Given the description of an element on the screen output the (x, y) to click on. 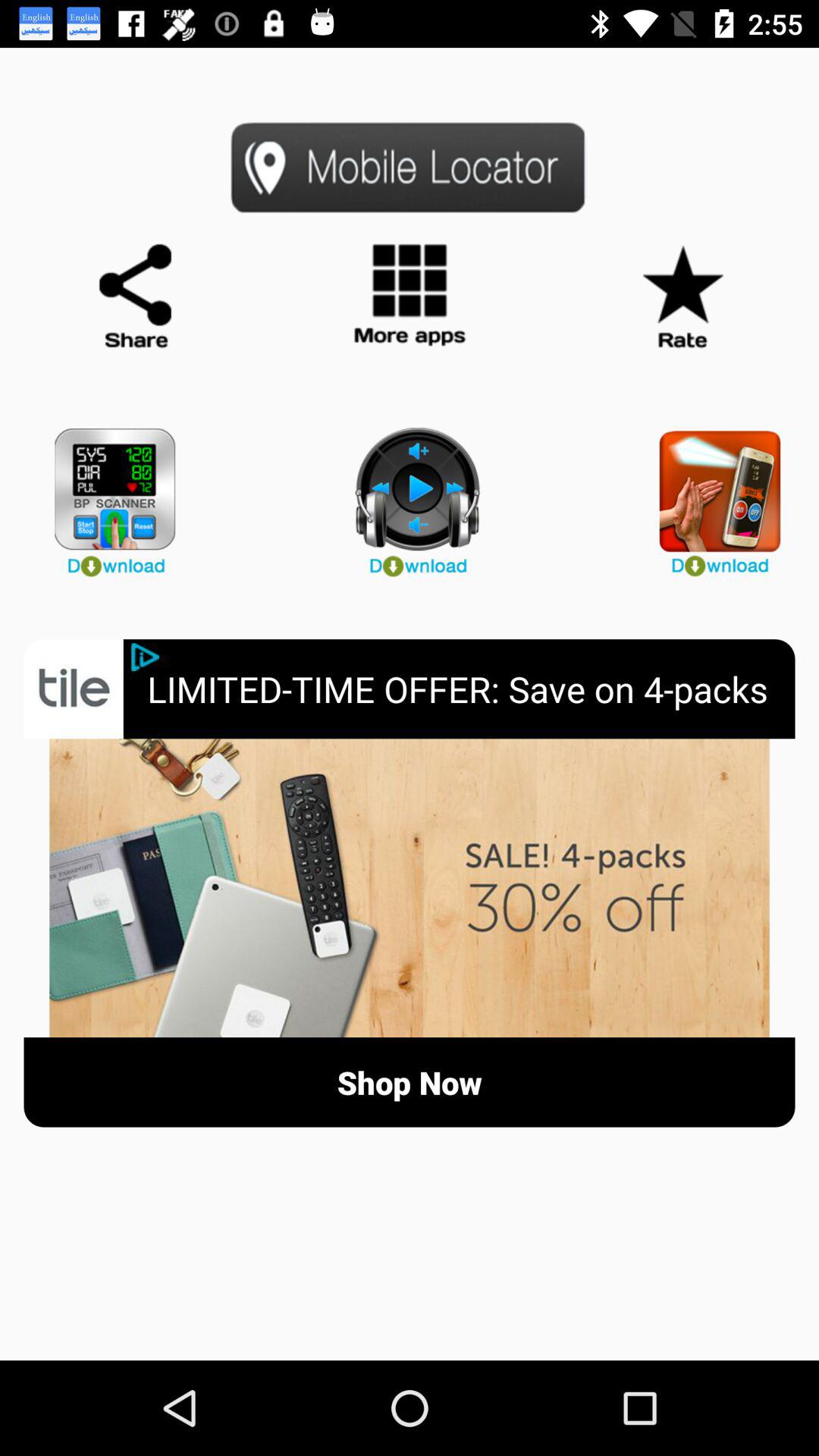
download (409, 495)
